Given the description of an element on the screen output the (x, y) to click on. 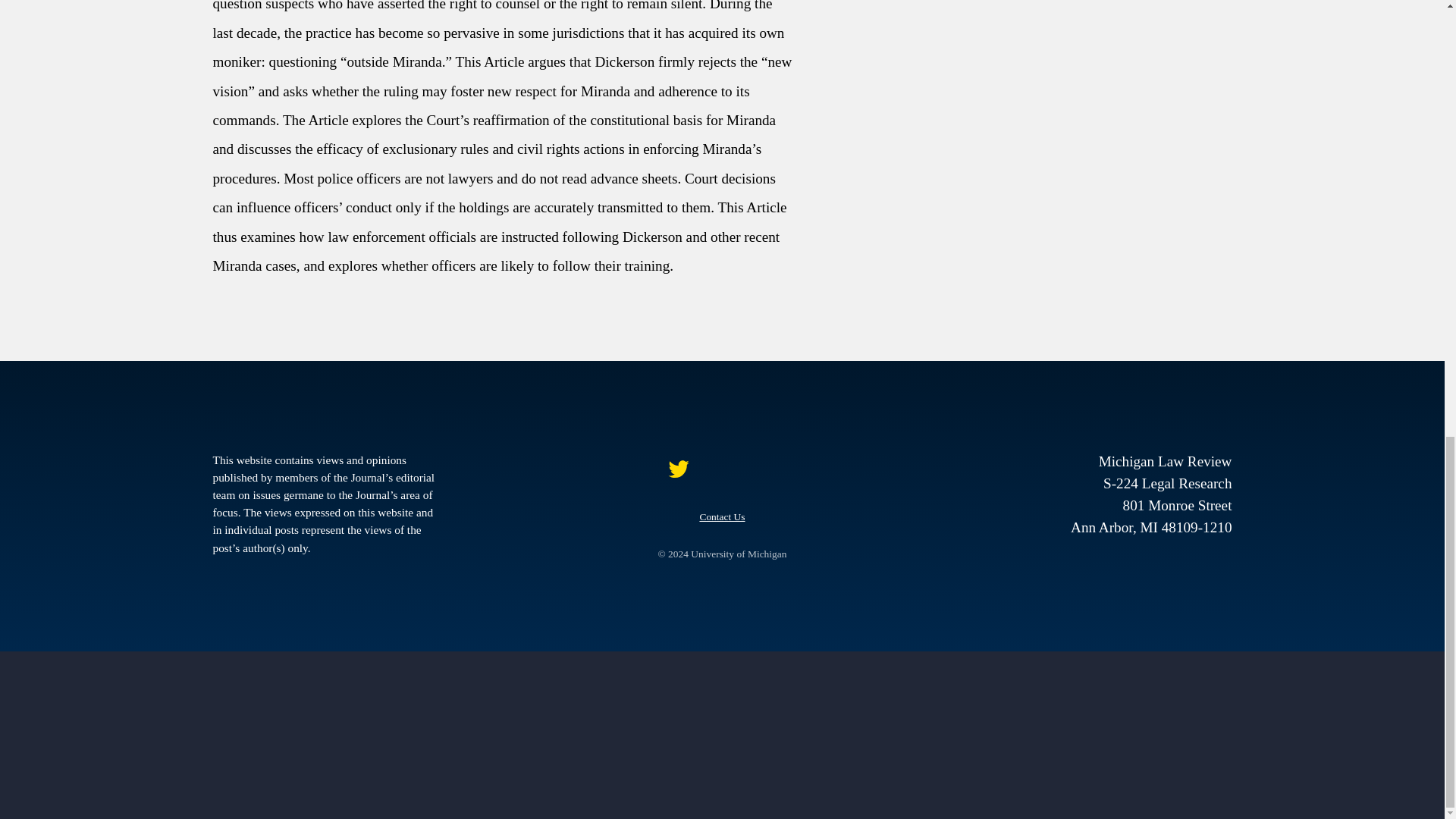
Contact Us (721, 516)
